Given the description of an element on the screen output the (x, y) to click on. 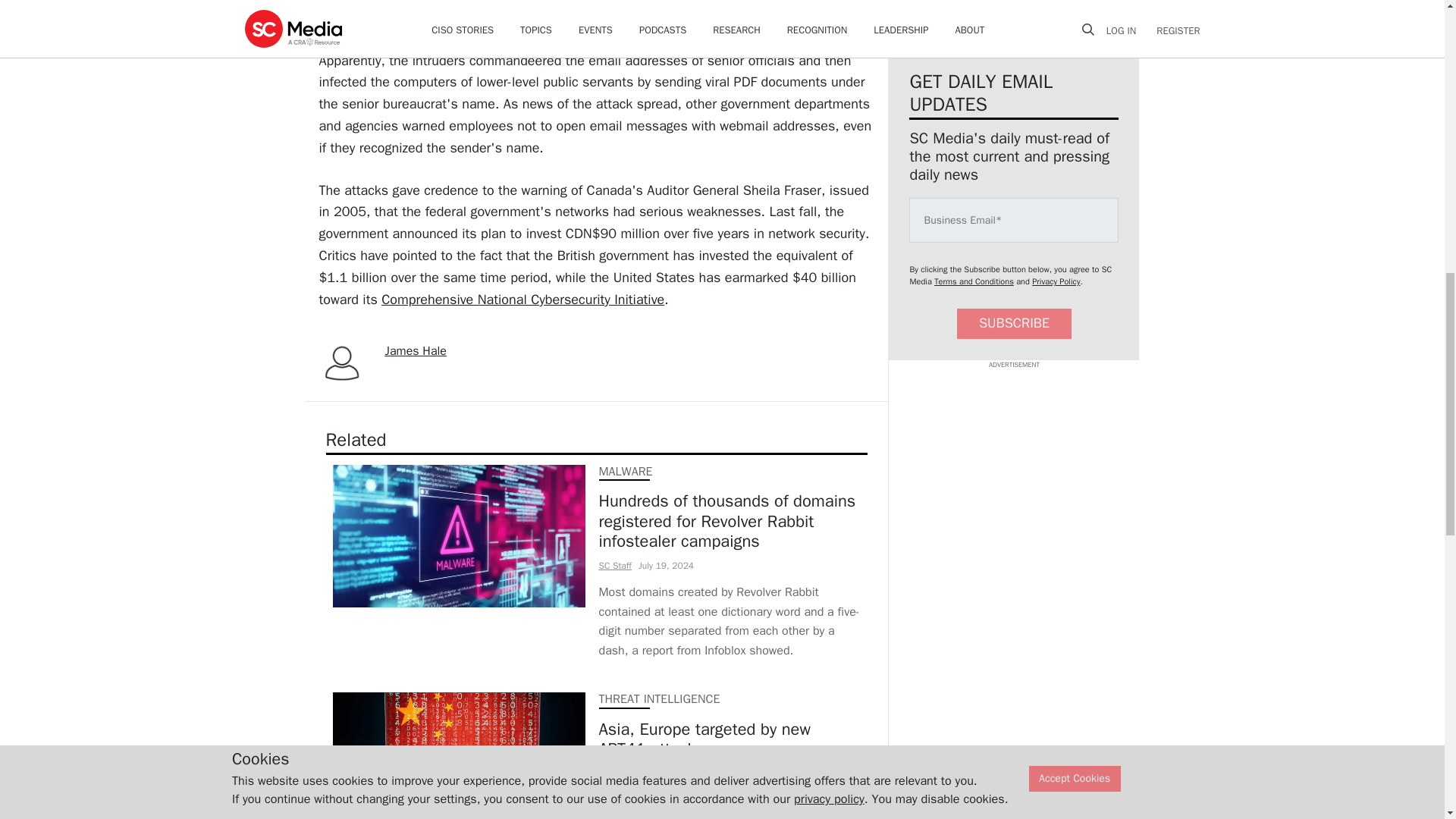
MALWARE (625, 471)
SUBSCRIBE (1013, 323)
Comprehensive National Cybersecurity Initiative (522, 299)
THREAT INTELLIGENCE (659, 698)
Privacy Policy (1056, 281)
Asia, Europe targeted by new APT41 attacks (729, 739)
SC Staff (614, 772)
Terms and Conditions (973, 281)
James Hale (415, 350)
SC Staff (614, 565)
